Given the description of an element on the screen output the (x, y) to click on. 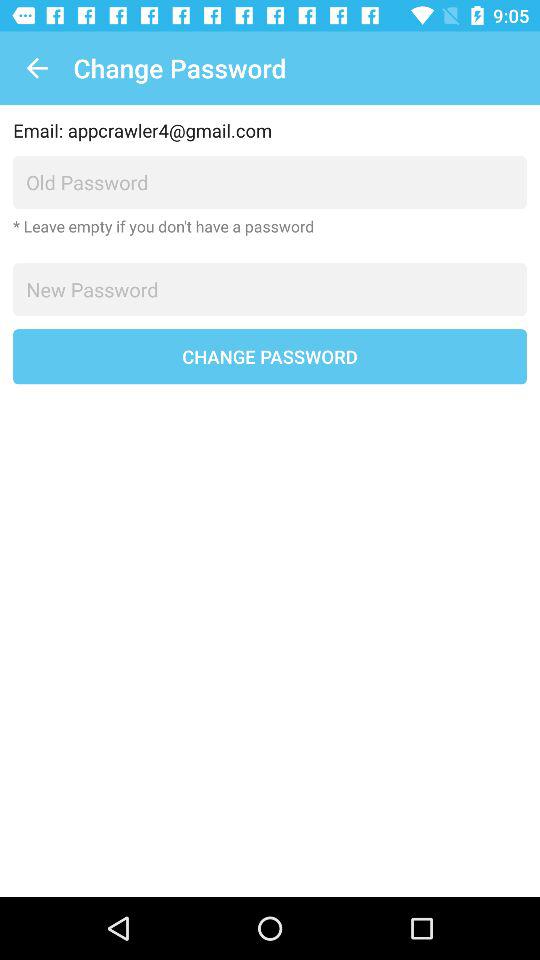
password (269, 289)
